Given the description of an element on the screen output the (x, y) to click on. 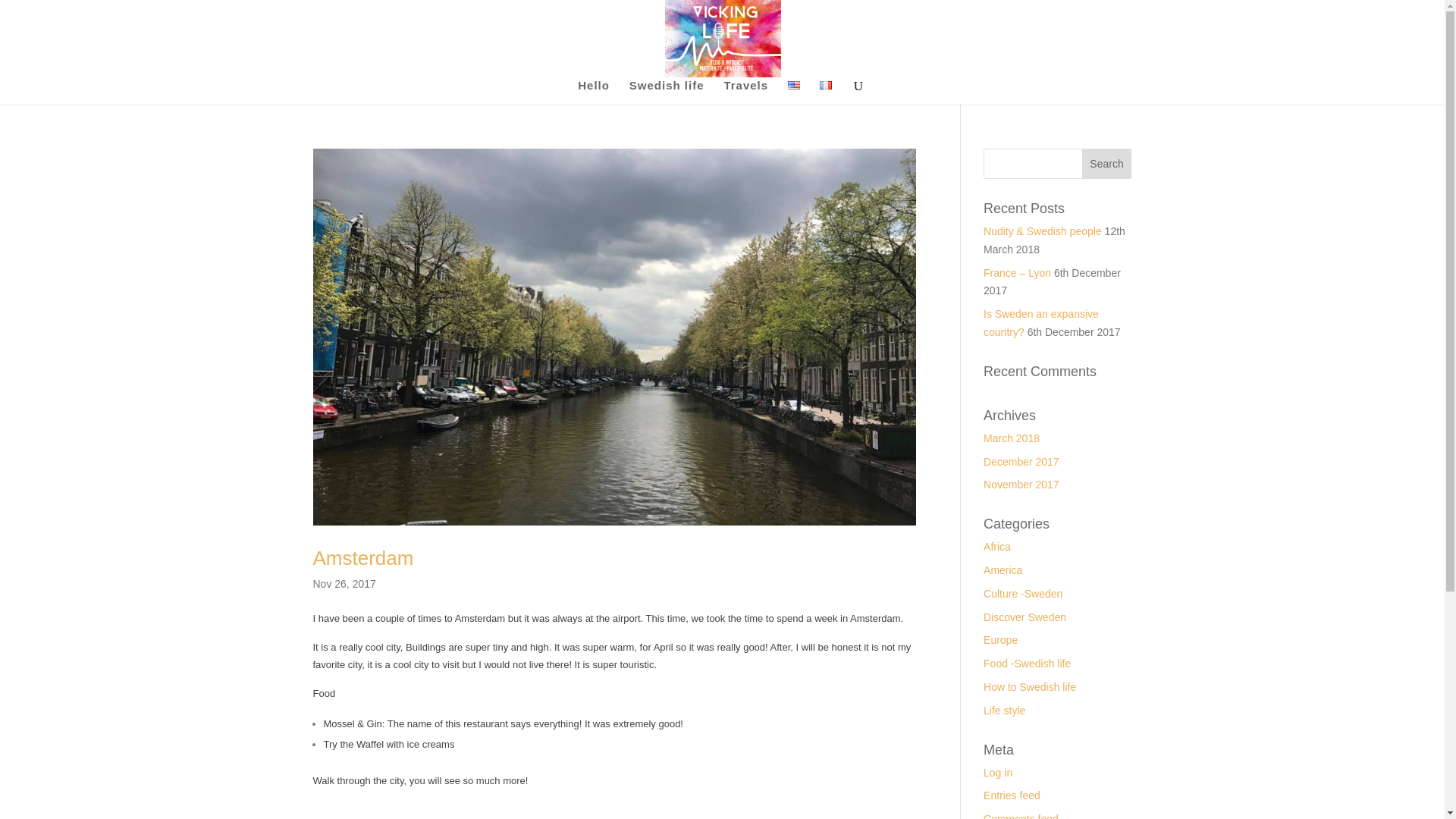
December 2017 (1021, 461)
Culture -Sweden (1023, 593)
Life style (1004, 710)
Discover Sweden (1024, 616)
Search (1106, 163)
Hello (594, 92)
March 2018 (1011, 438)
Travels (745, 92)
Search (1106, 163)
Europe (1000, 639)
Swedish life (666, 92)
Entries feed (1012, 795)
Amsterdam (363, 558)
How to Swedish life (1029, 686)
Log in (997, 772)
